Given the description of an element on the screen output the (x, y) to click on. 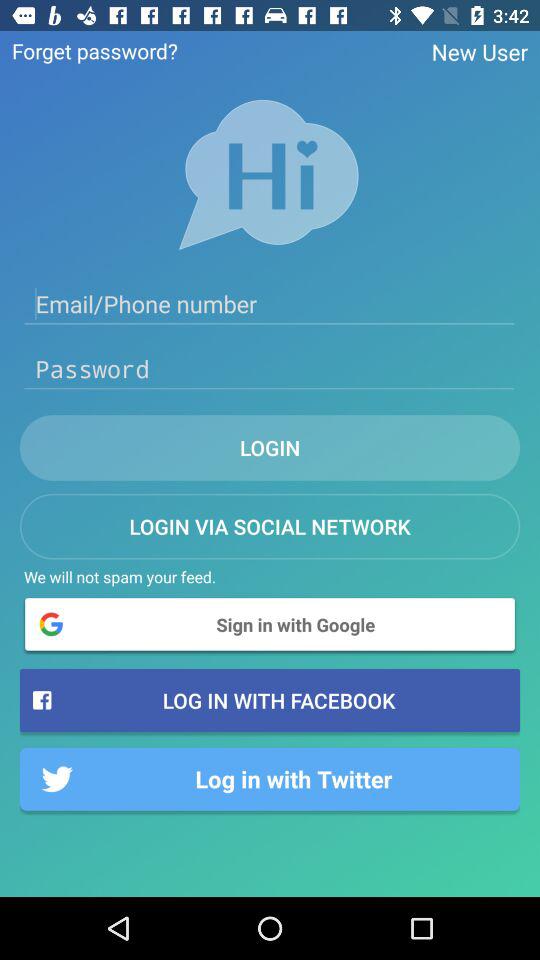
password box (269, 369)
